Given the description of an element on the screen output the (x, y) to click on. 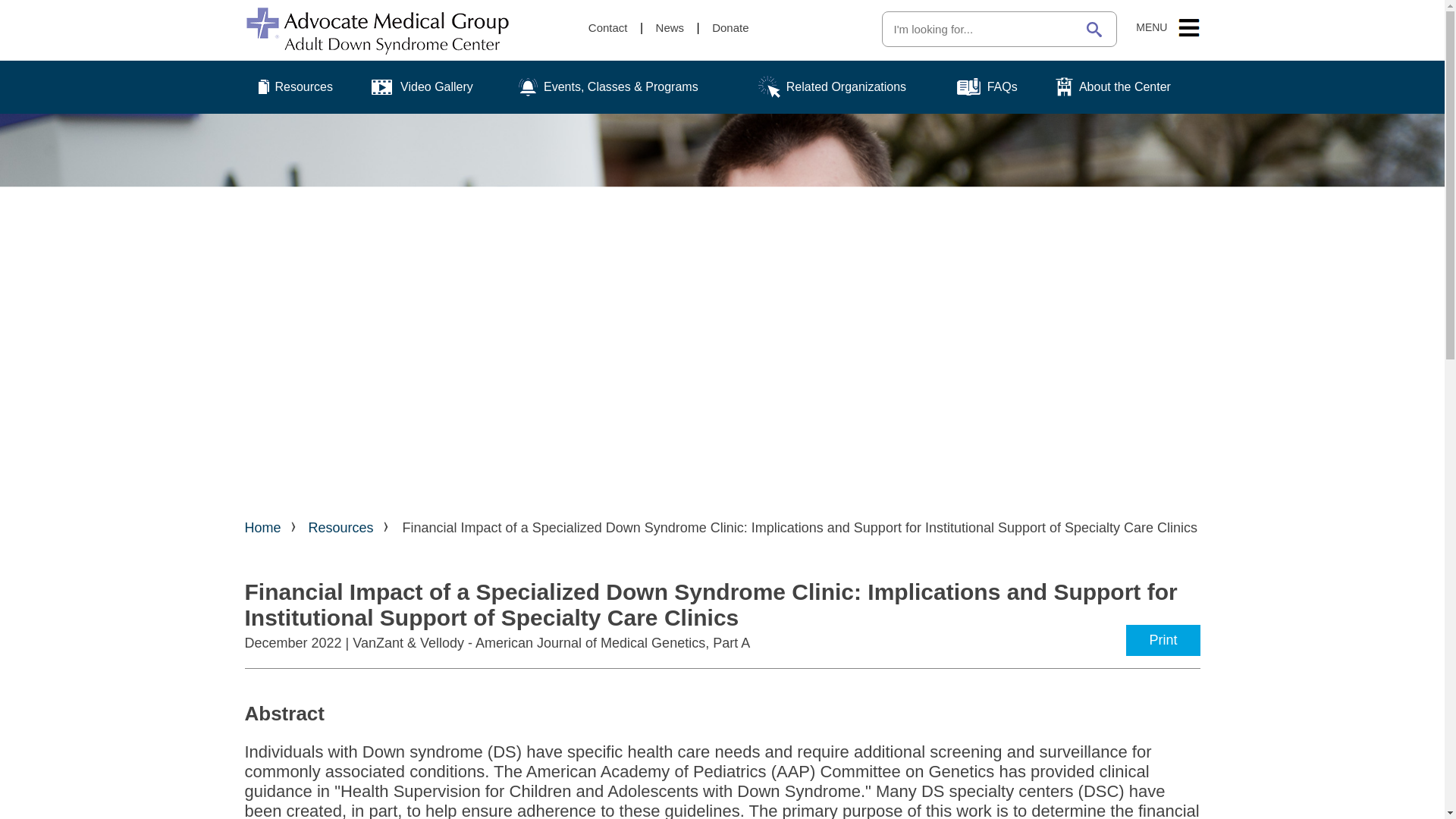
News (670, 27)
Related Organizations (848, 86)
Resources (298, 86)
Donate (729, 27)
Search (1093, 28)
FAQs (995, 86)
Contact (607, 27)
Video Gallery (433, 86)
About the Center (1124, 86)
Print (1162, 640)
